Given the description of an element on the screen output the (x, y) to click on. 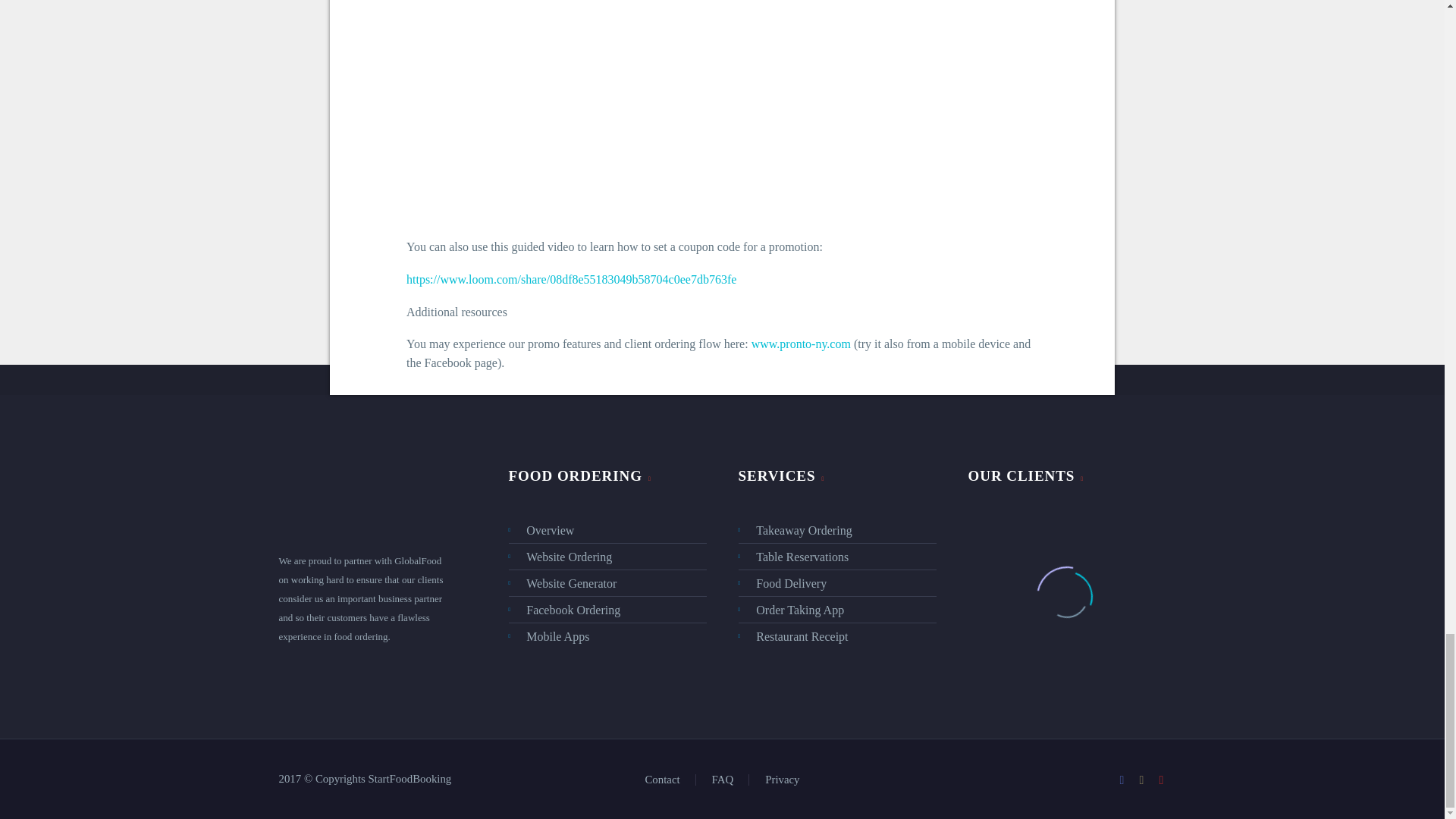
Order Taking App (837, 609)
Takeaway Ordering (837, 529)
www.pronto-ny.com (800, 343)
Food Delivery (837, 583)
Instagram (1141, 779)
Facebook Ordering (607, 609)
Website Generator (607, 583)
Mobile Apps (607, 636)
Facebook (1122, 779)
Table Reservations (837, 556)
